Given the description of an element on the screen output the (x, y) to click on. 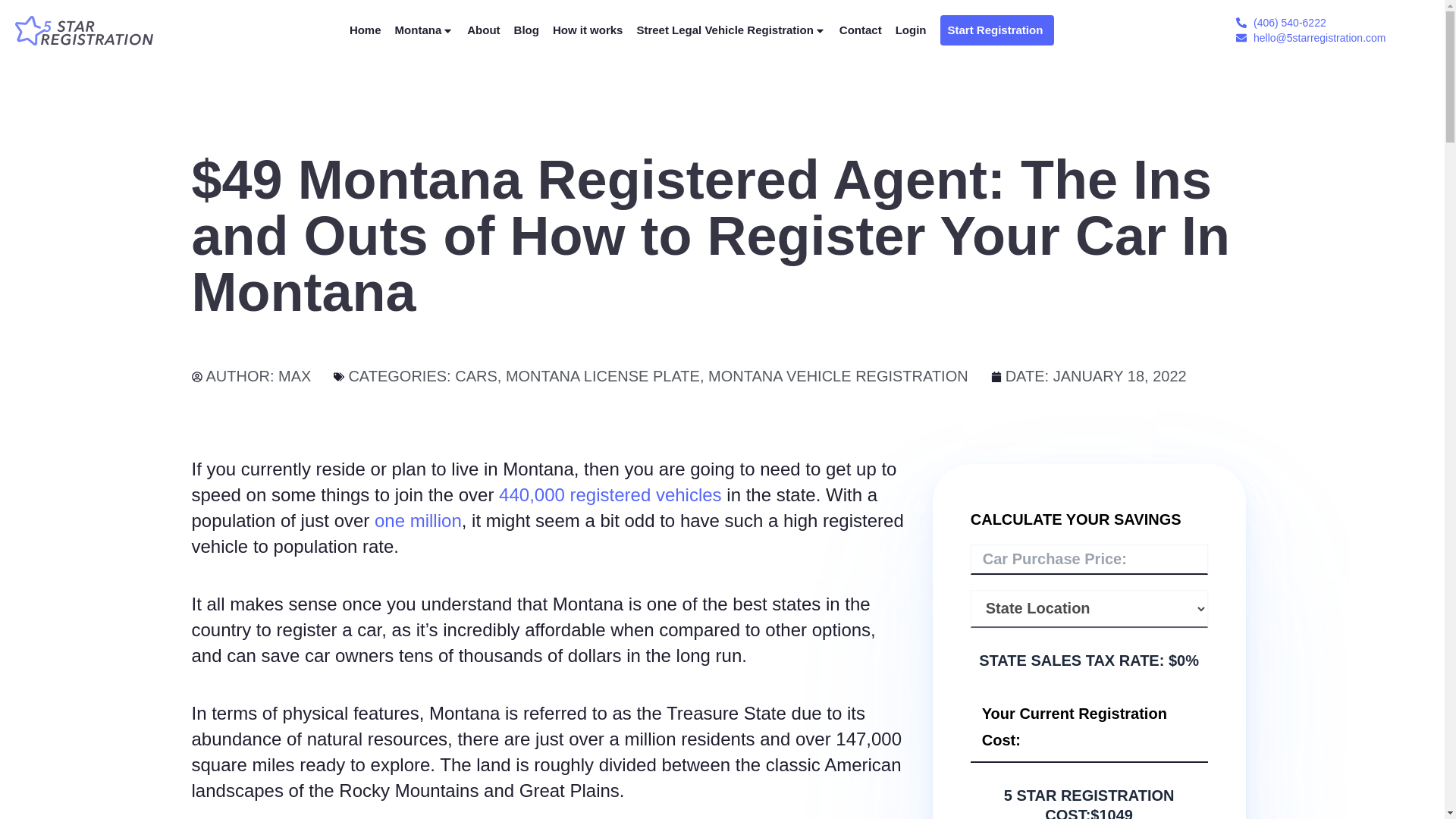
How it works (588, 30)
Contact (861, 30)
Home (365, 30)
Street Legal Vehicle Registration (730, 30)
Login (910, 30)
Start Registration (997, 30)
About (483, 30)
Montana (424, 30)
